Given the description of an element on the screen output the (x, y) to click on. 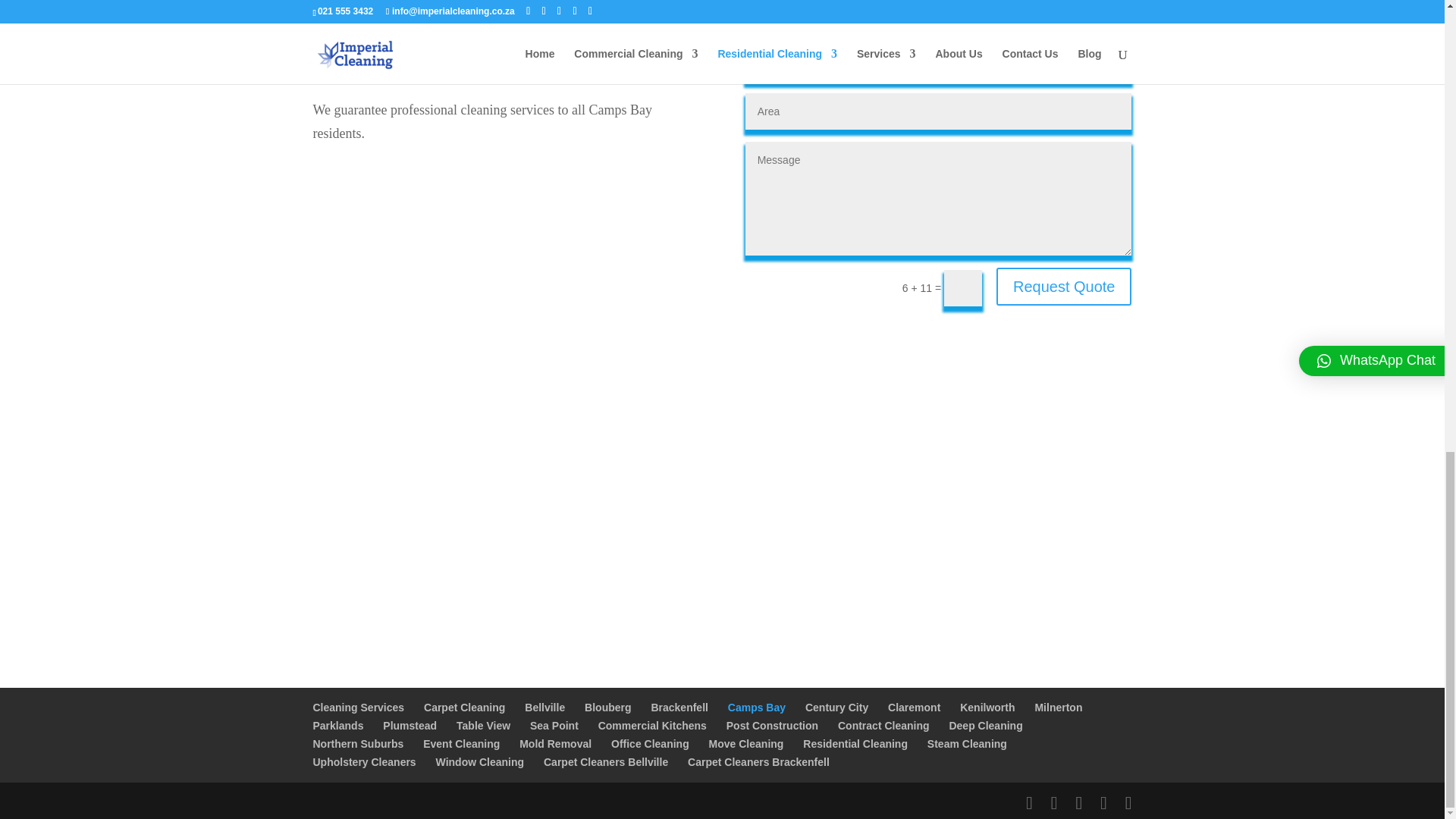
Only numbers allowed. (938, 63)
